Given the description of an element on the screen output the (x, y) to click on. 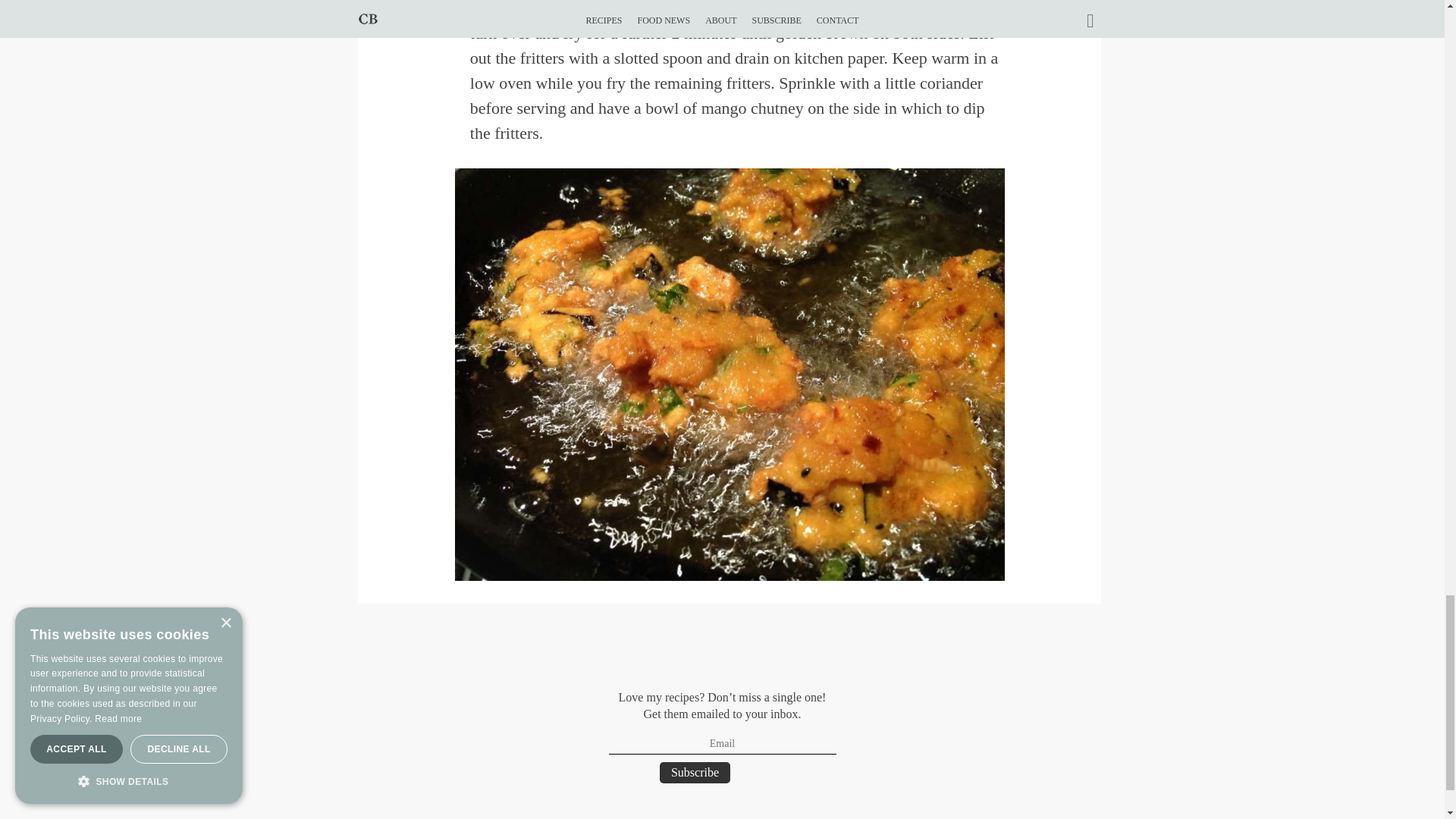
Subscribe (694, 772)
Subscribe (694, 772)
